Given the description of an element on the screen output the (x, y) to click on. 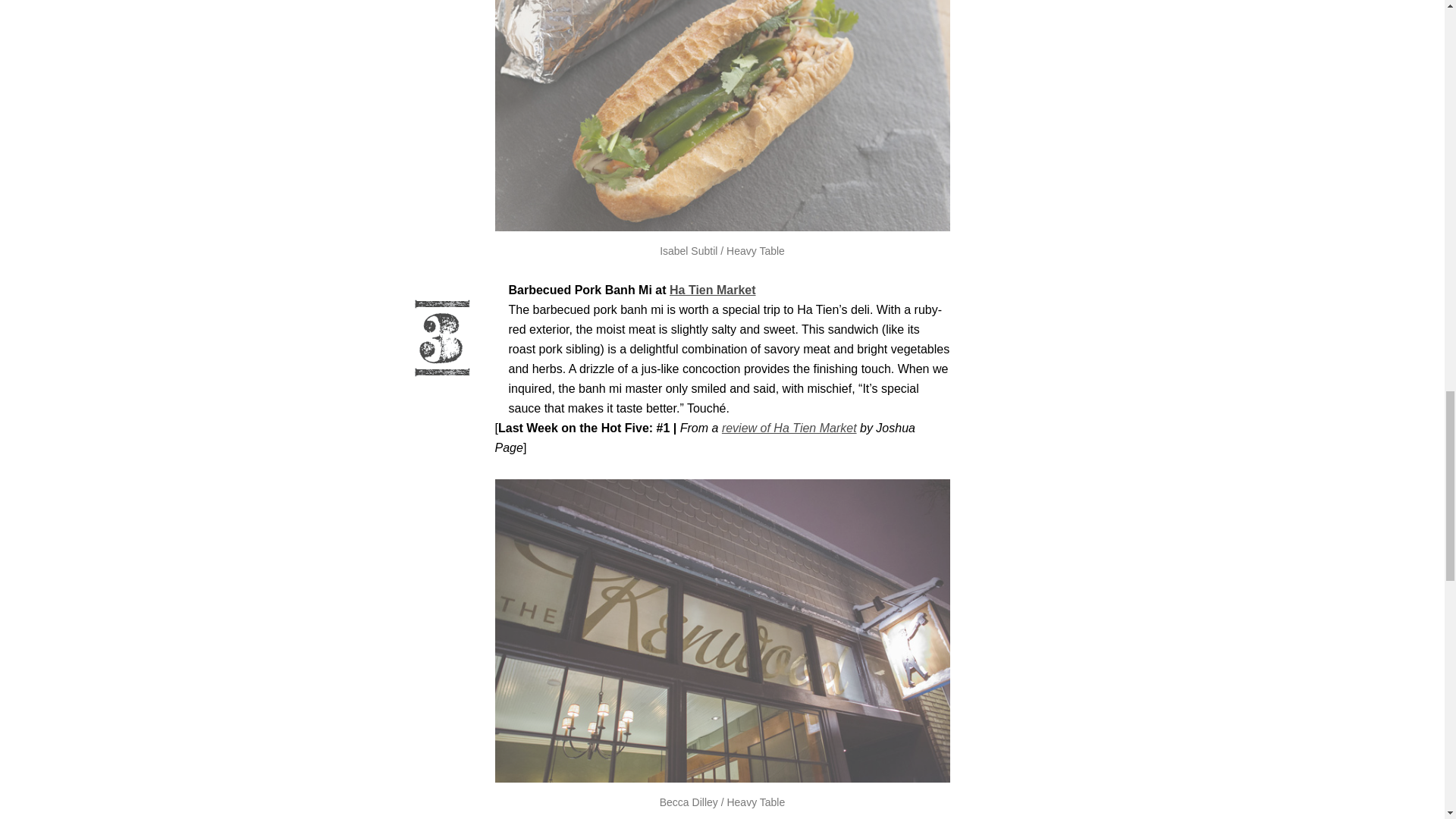
review of Ha Tien Market (789, 427)
Ha Tien Market (712, 289)
